Given the description of an element on the screen output the (x, y) to click on. 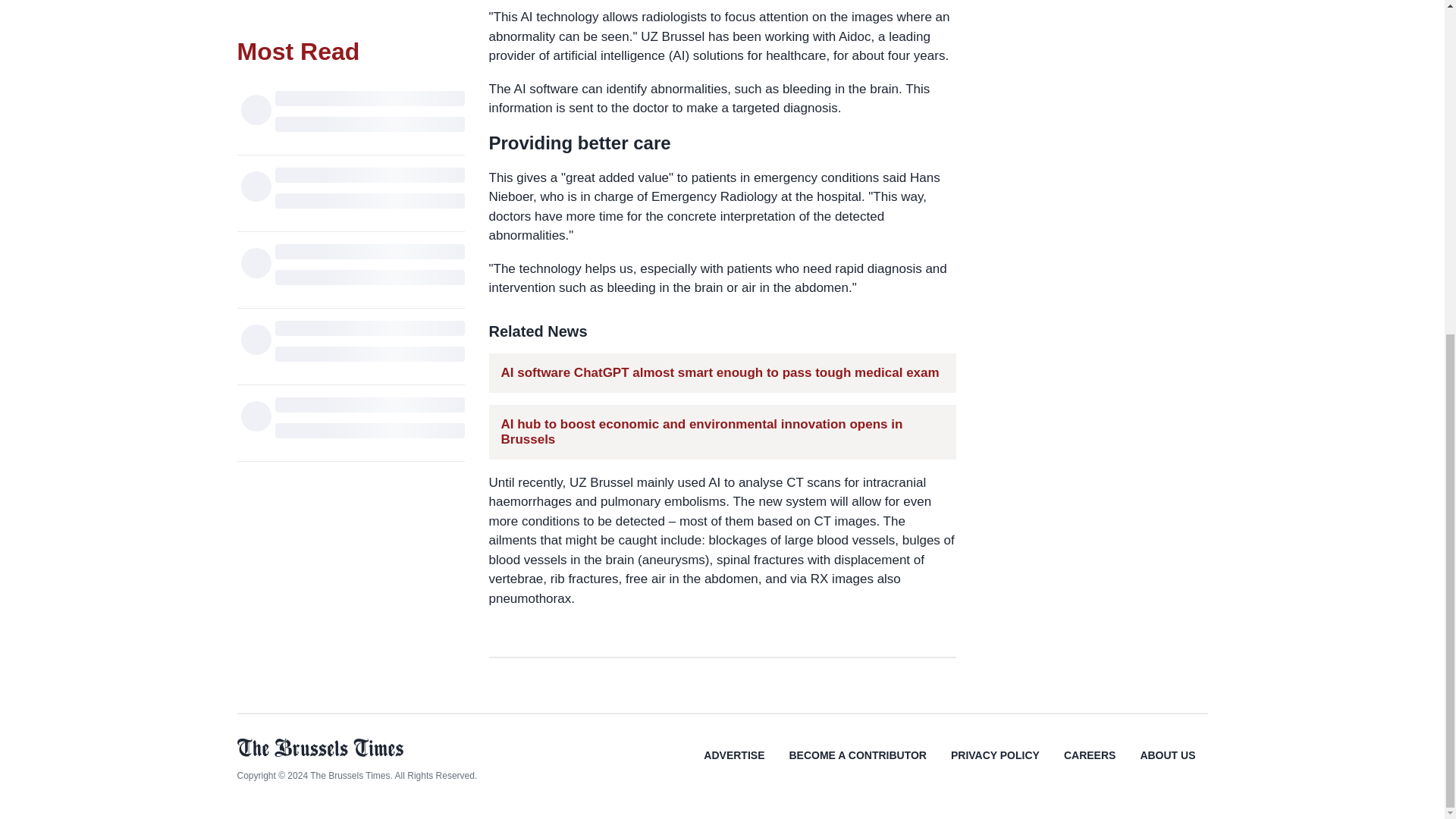
ABOUT US (1166, 766)
ADVERTISE (733, 766)
BECOME A CONTRIBUTOR (856, 766)
PRIVACY POLICY (995, 766)
CAREERS (1088, 766)
